Given the description of an element on the screen output the (x, y) to click on. 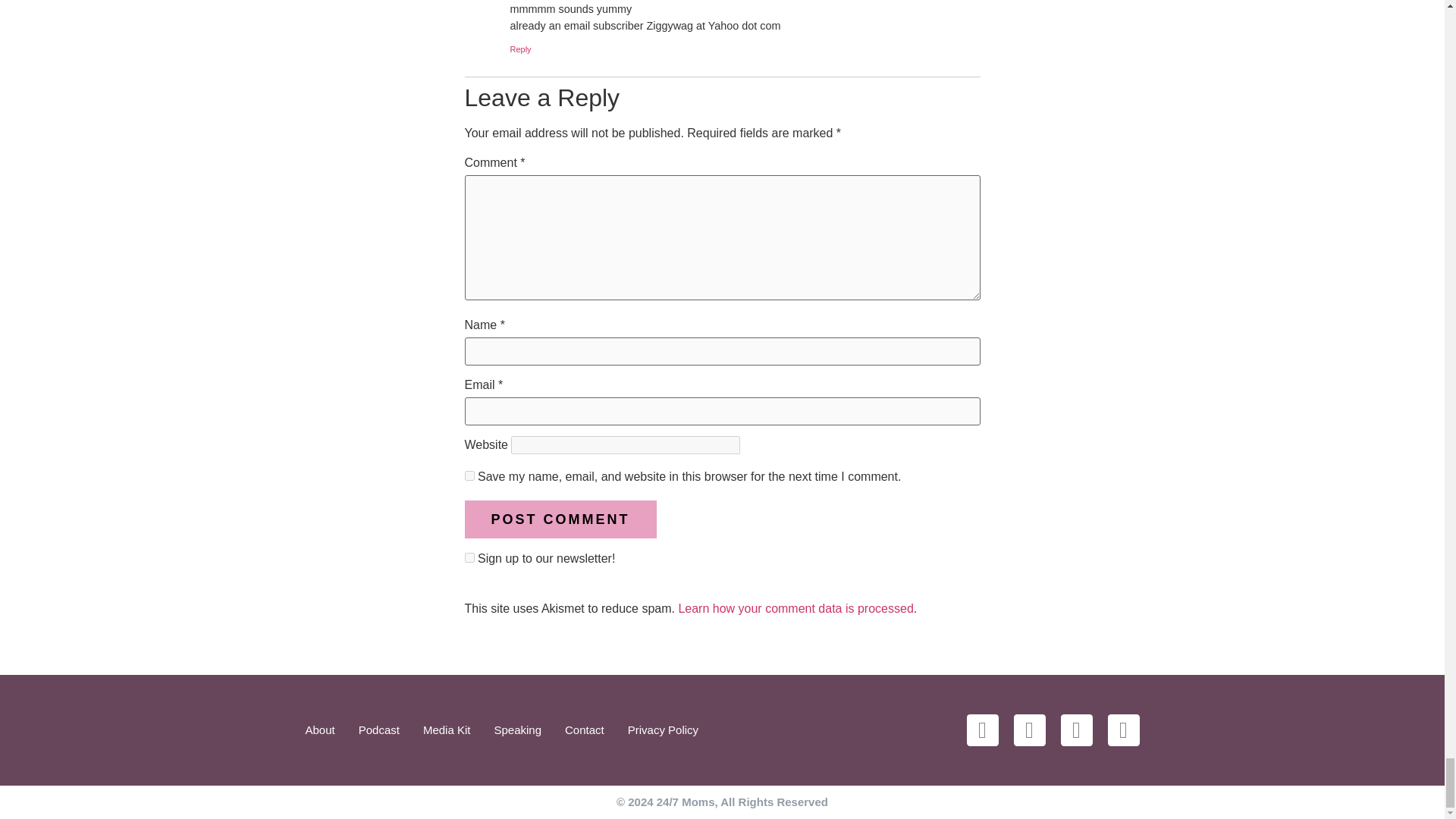
Post Comment (560, 519)
1 (469, 557)
yes (469, 475)
